Given the description of an element on the screen output the (x, y) to click on. 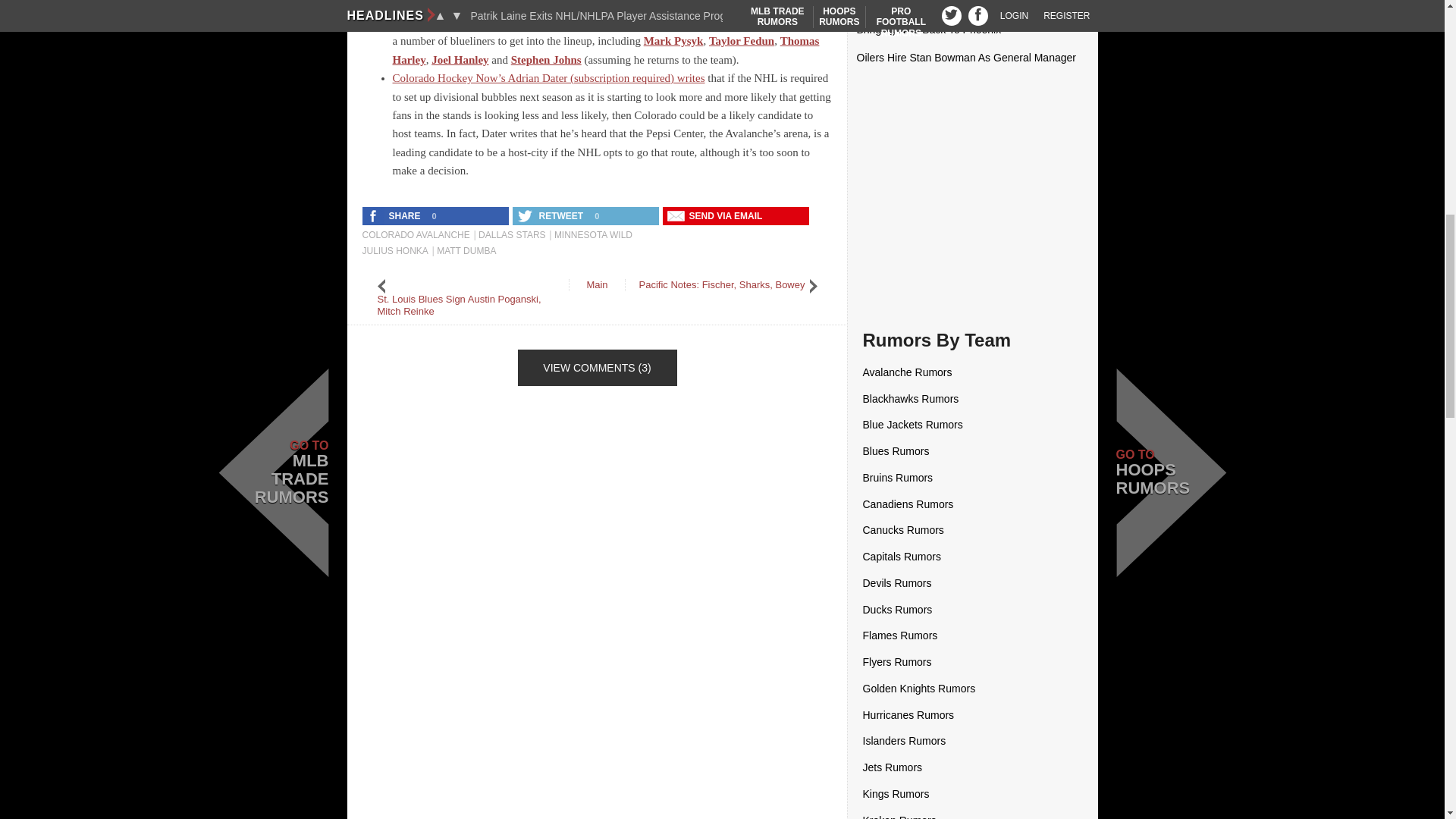
Share 'Central Notes: Dumba, Honka, Colorado' on Facebook (395, 216)
Send Central Notes: Dumba, Honka, Colorado with an email (716, 216)
Retweet 'Central Notes: Dumba, Honka, Colorado' on Twitter (551, 216)
